Given the description of an element on the screen output the (x, y) to click on. 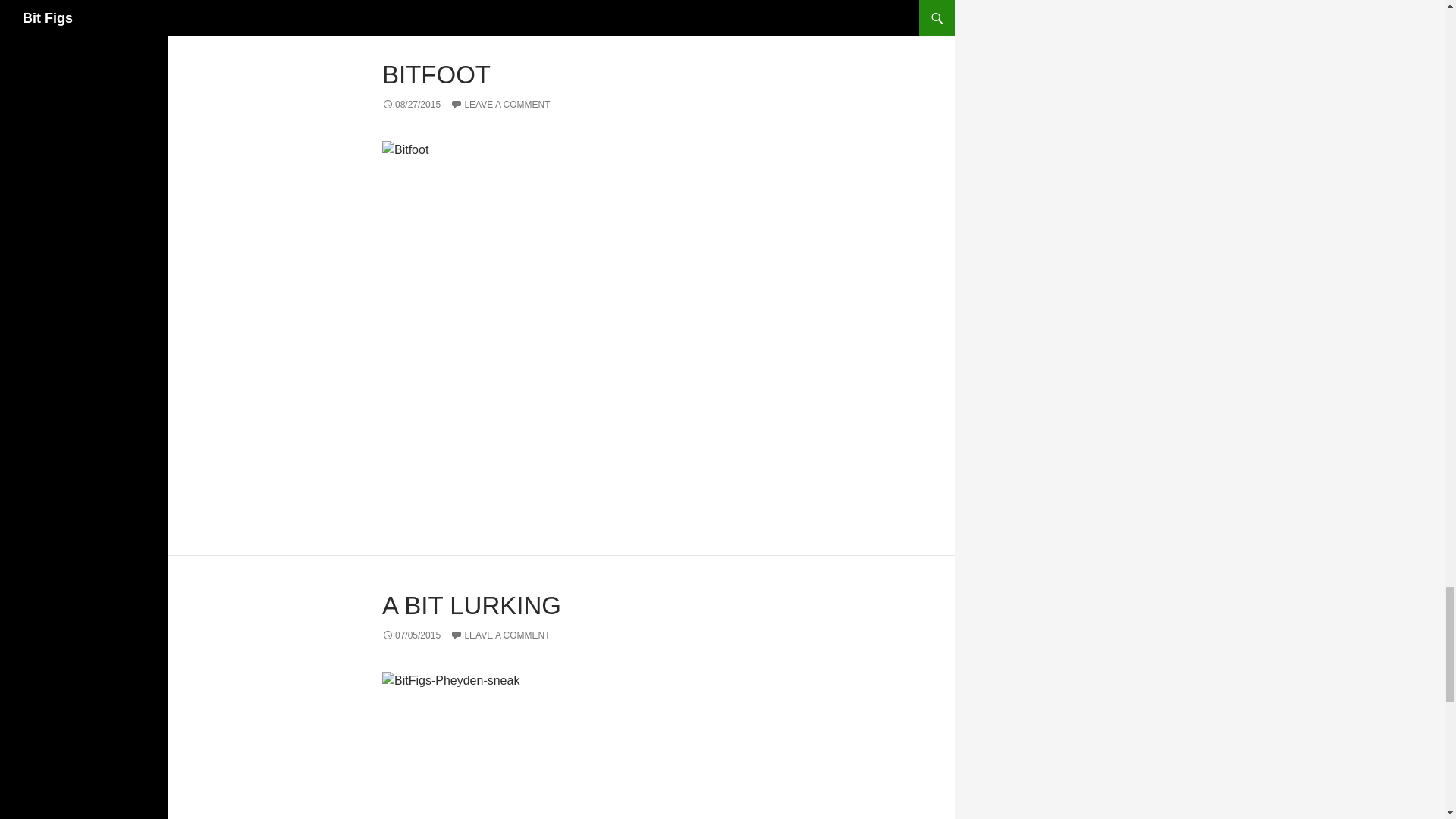
A BIT LURKING (470, 605)
BITFOOT (435, 74)
LEAVE A COMMENT (499, 104)
